Given the description of an element on the screen output the (x, y) to click on. 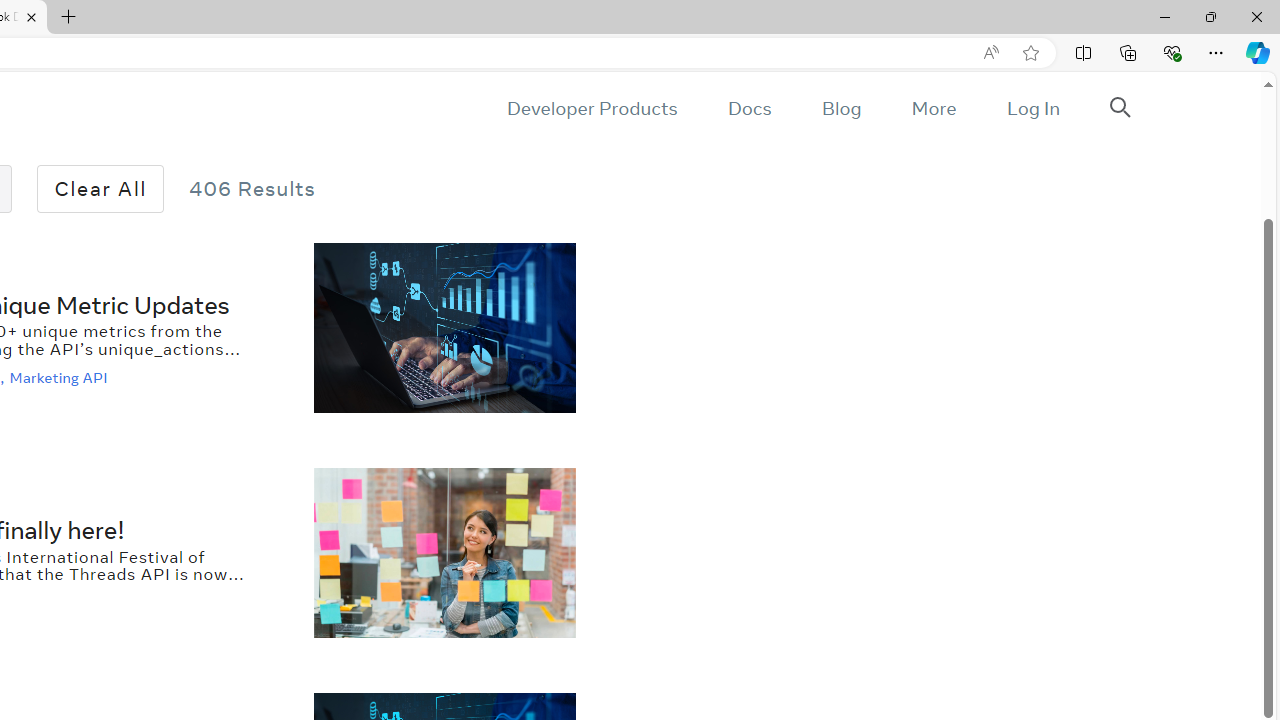
More (933, 108)
Close (1256, 16)
Copilot (Ctrl+Shift+.) (1258, 52)
Blog (841, 108)
Minimize (1164, 16)
Read aloud this page (Ctrl+Shift+U) (991, 53)
Split screen (1083, 52)
Developer Products (591, 108)
Docs (749, 108)
Browser essentials (1171, 52)
Restore (1210, 16)
New Tab (69, 17)
Add this page to favorites (Ctrl+D) (1030, 53)
Developer Products (591, 108)
Collections (1128, 52)
